Given the description of an element on the screen output the (x, y) to click on. 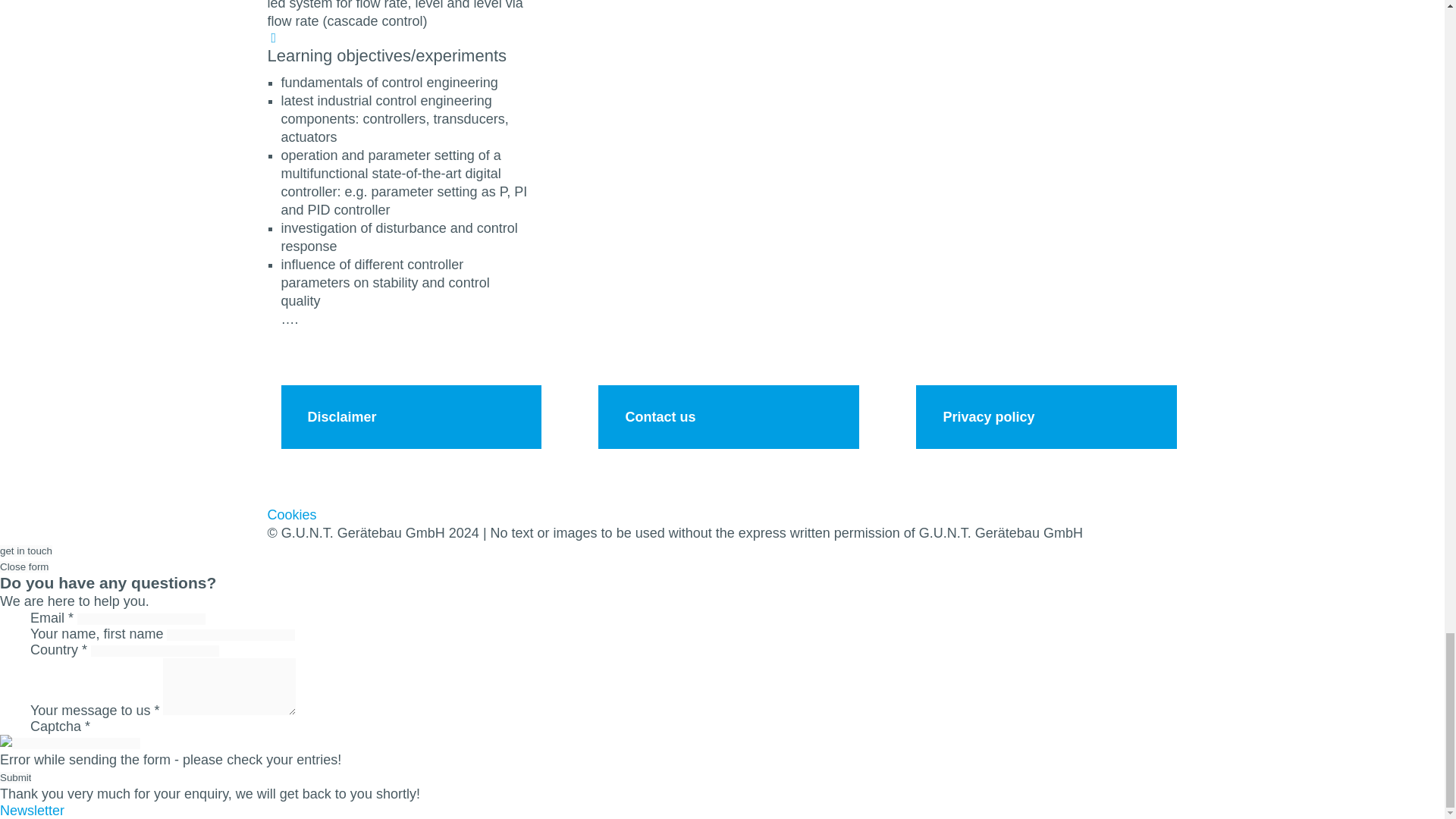
Submit (15, 777)
